Given the description of an element on the screen output the (x, y) to click on. 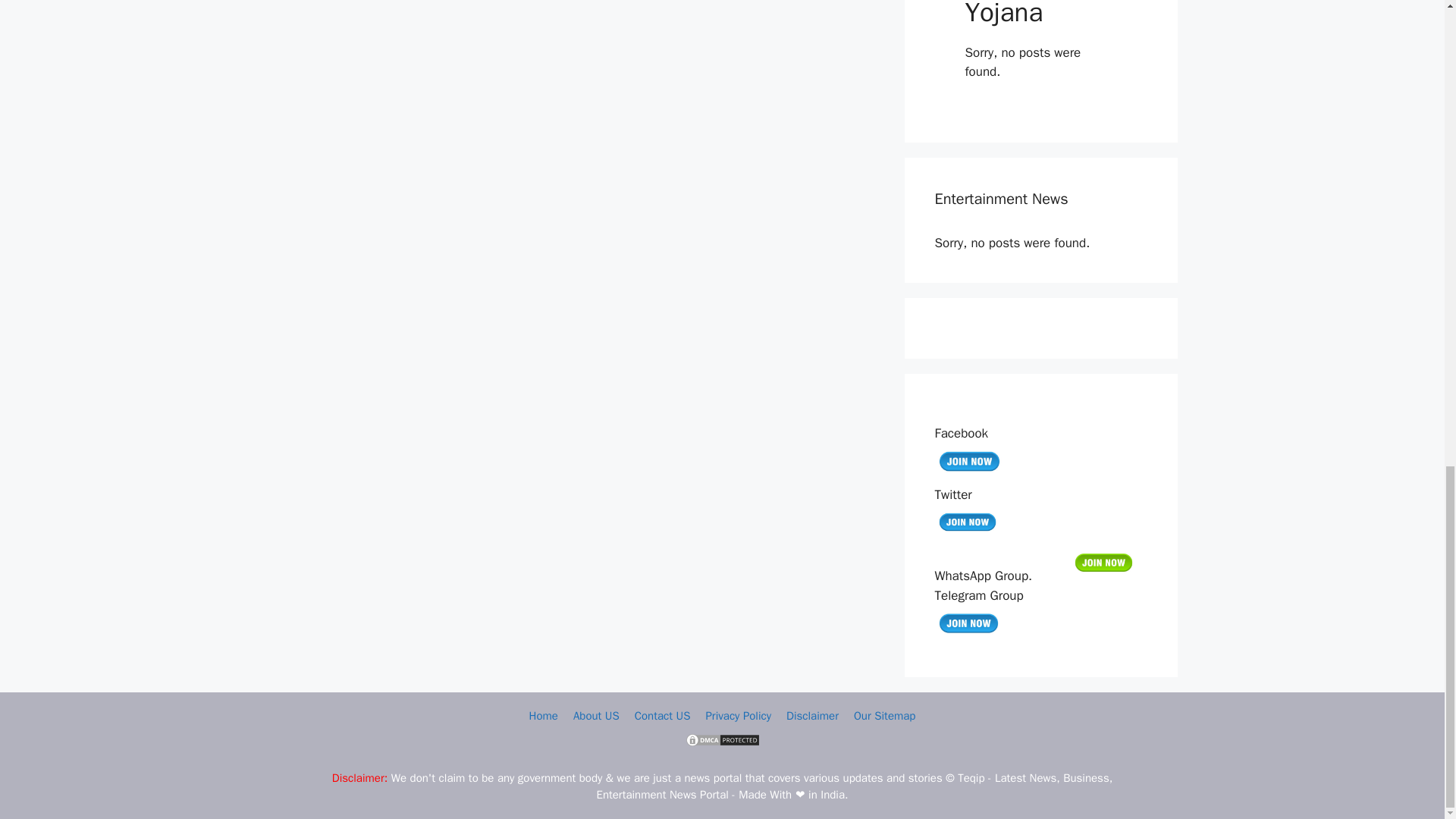
DMCA.com Protection Status (722, 744)
Our Sitemap (884, 715)
Home (543, 715)
Disclaimer (812, 715)
Privacy Policy (737, 715)
About US (596, 715)
Contact US (662, 715)
